Given the description of an element on the screen output the (x, y) to click on. 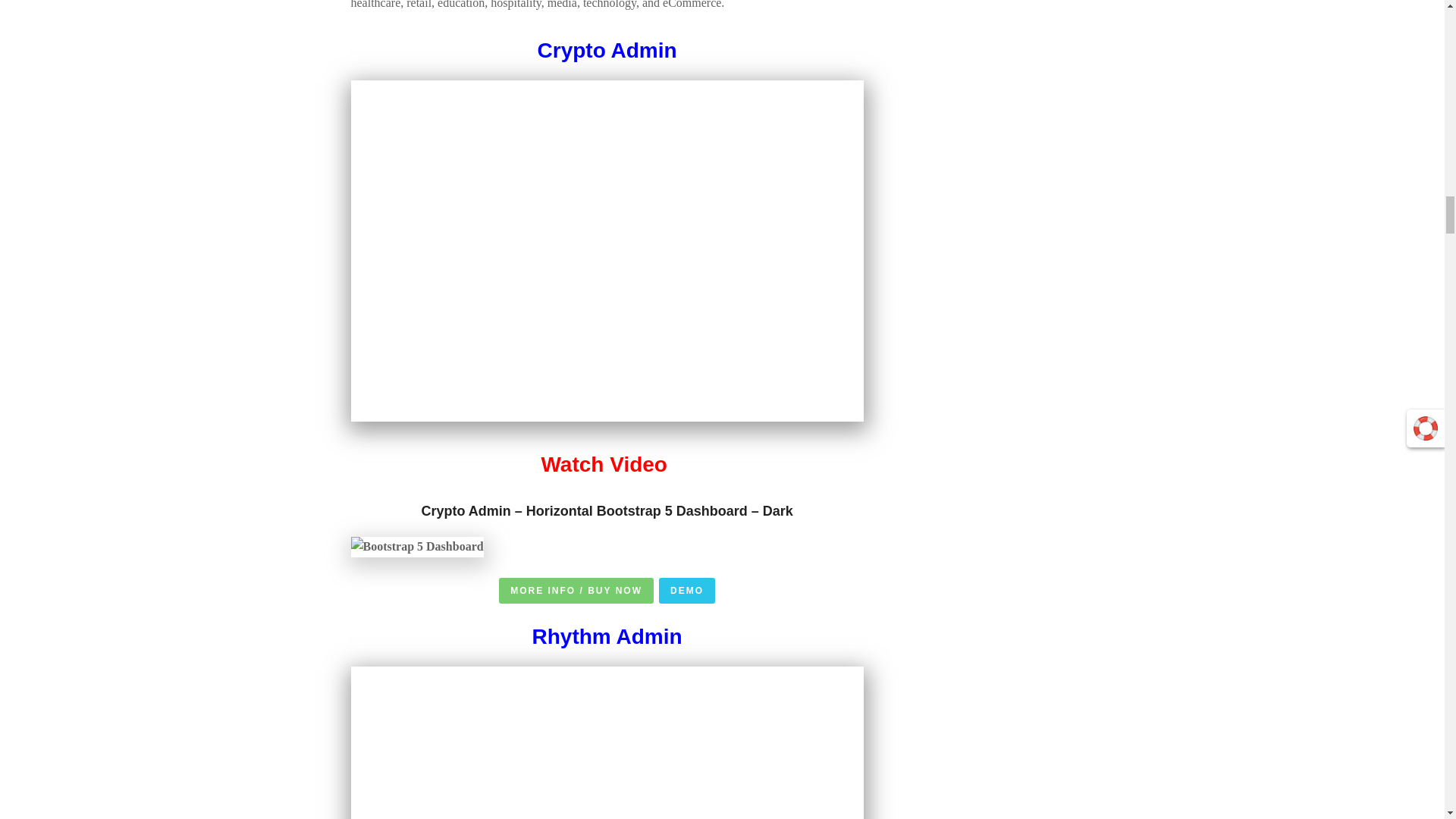
YouTube video player (606, 742)
DEMO (686, 590)
